Given the description of an element on the screen output the (x, y) to click on. 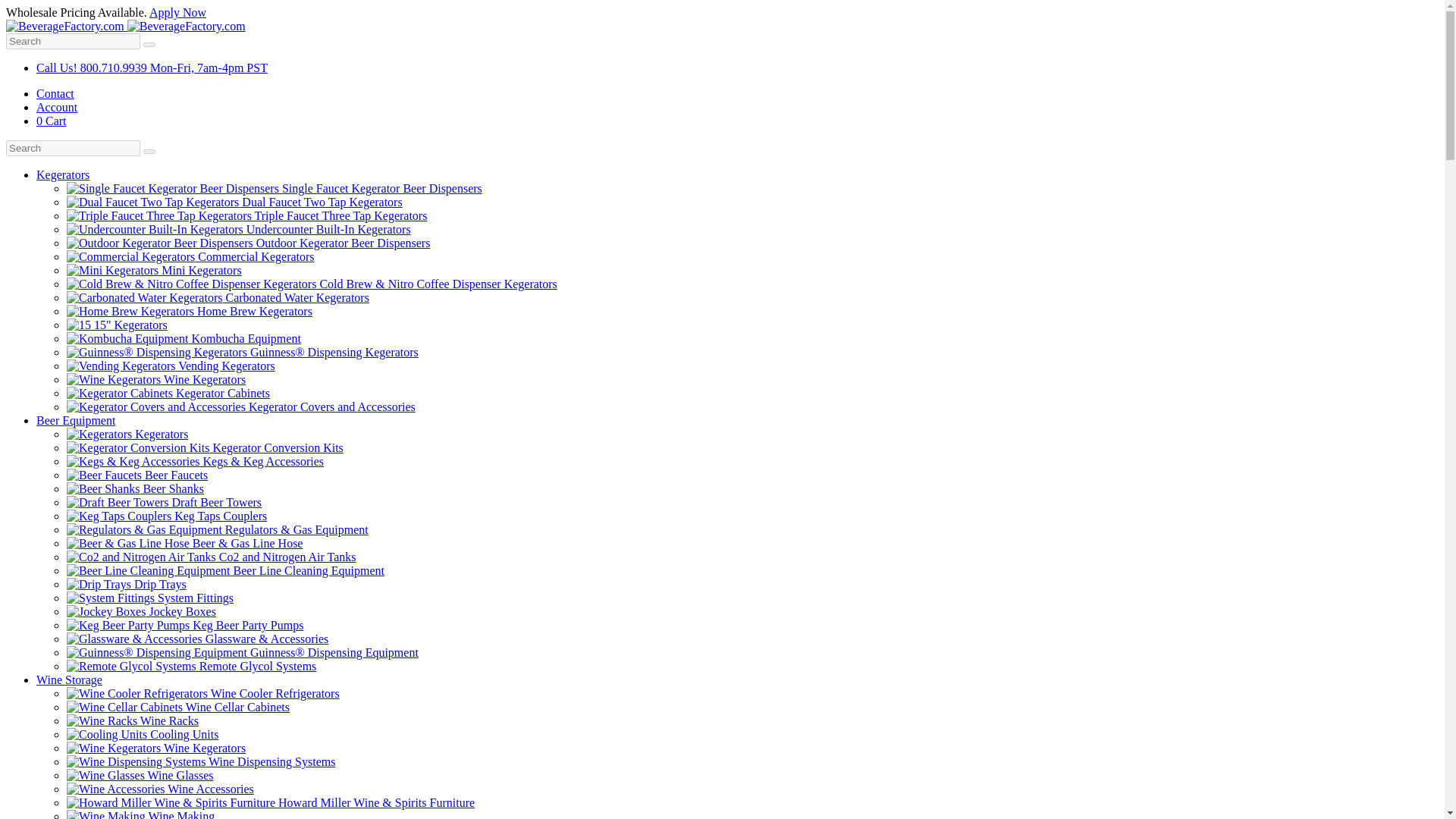
Mini Kegerators (153, 269)
Triple Faucet Three Tap Kegerators (246, 215)
Kegerator Conversion Kits (204, 447)
Kegerators (126, 433)
Outdoor Kegerator Beer Dispensers (247, 242)
Beer Equipment (75, 420)
Commercial Kegerators (190, 256)
Kegerators (62, 174)
Vending Kegerators (170, 365)
Co2 and Nitrogen Air Tanks (211, 556)
Undercounter Built-In Kegerators (238, 228)
Kombucha Equipment (183, 338)
15" Kegerators (116, 324)
Home Brew Kegerators (189, 310)
Kegerator Cabinets (167, 392)
